Given the description of an element on the screen output the (x, y) to click on. 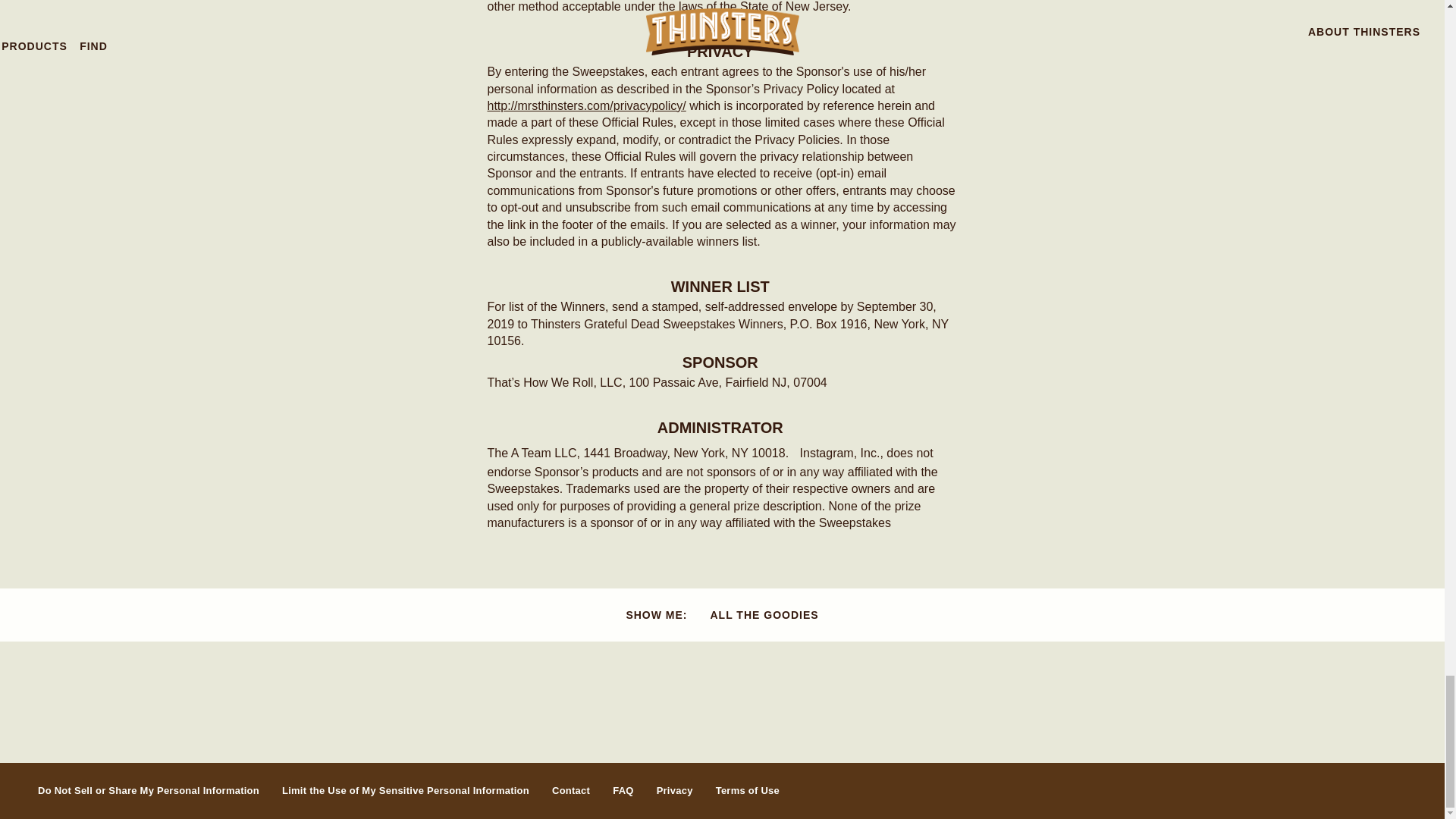
FAQ (622, 790)
Limit the Use of My Sensitive Personal Information (405, 790)
Privacy (674, 790)
Contact (570, 790)
Do Not Sell or Share My Personal Information (148, 790)
Terms of Use (747, 790)
